Given the description of an element on the screen output the (x, y) to click on. 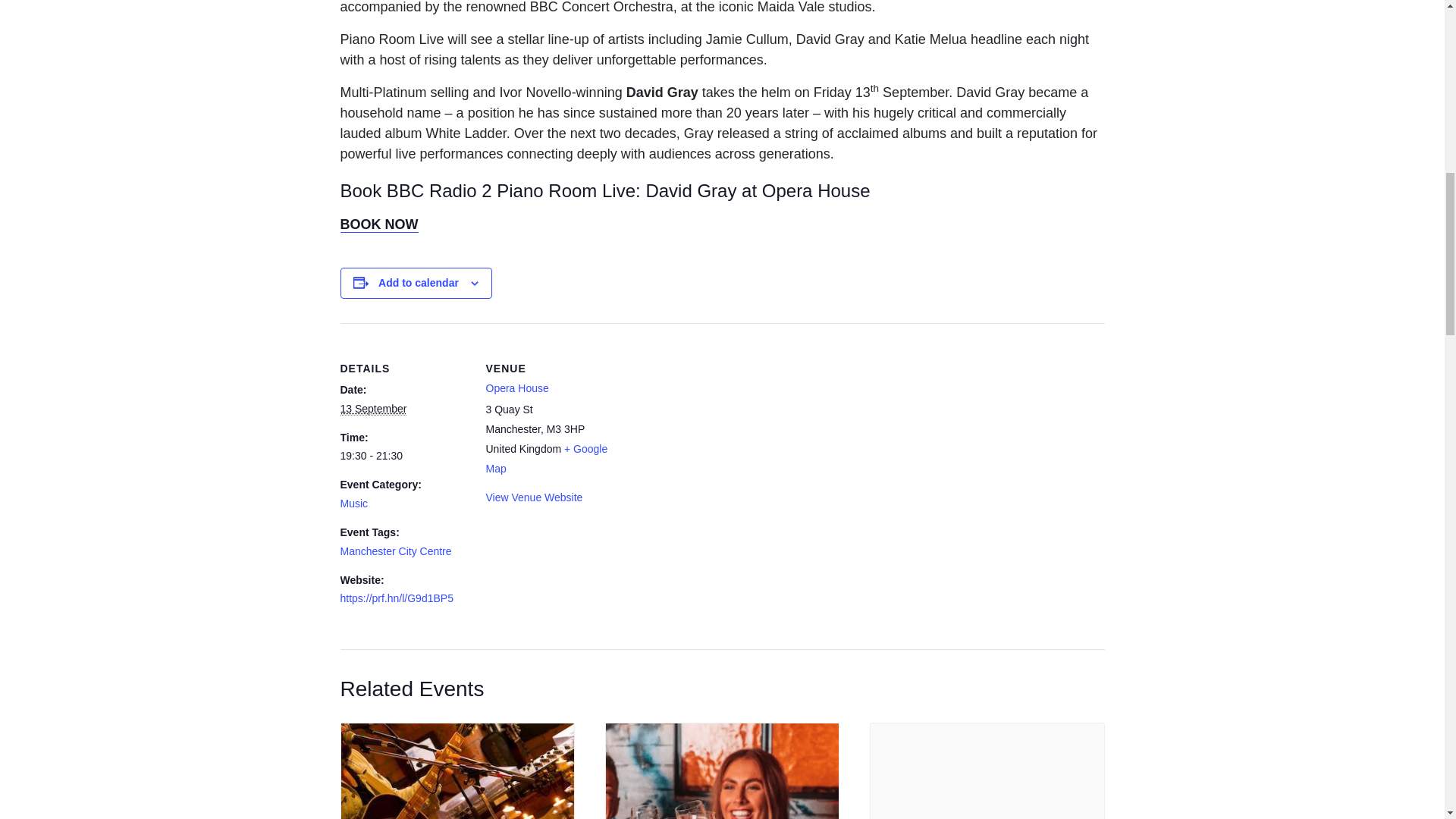
2024-09-13 (403, 456)
2024-09-13 (372, 408)
Google maps iframe displaying the address to Opera House (710, 427)
Click to view a Google Map (545, 459)
